Given the description of an element on the screen output the (x, y) to click on. 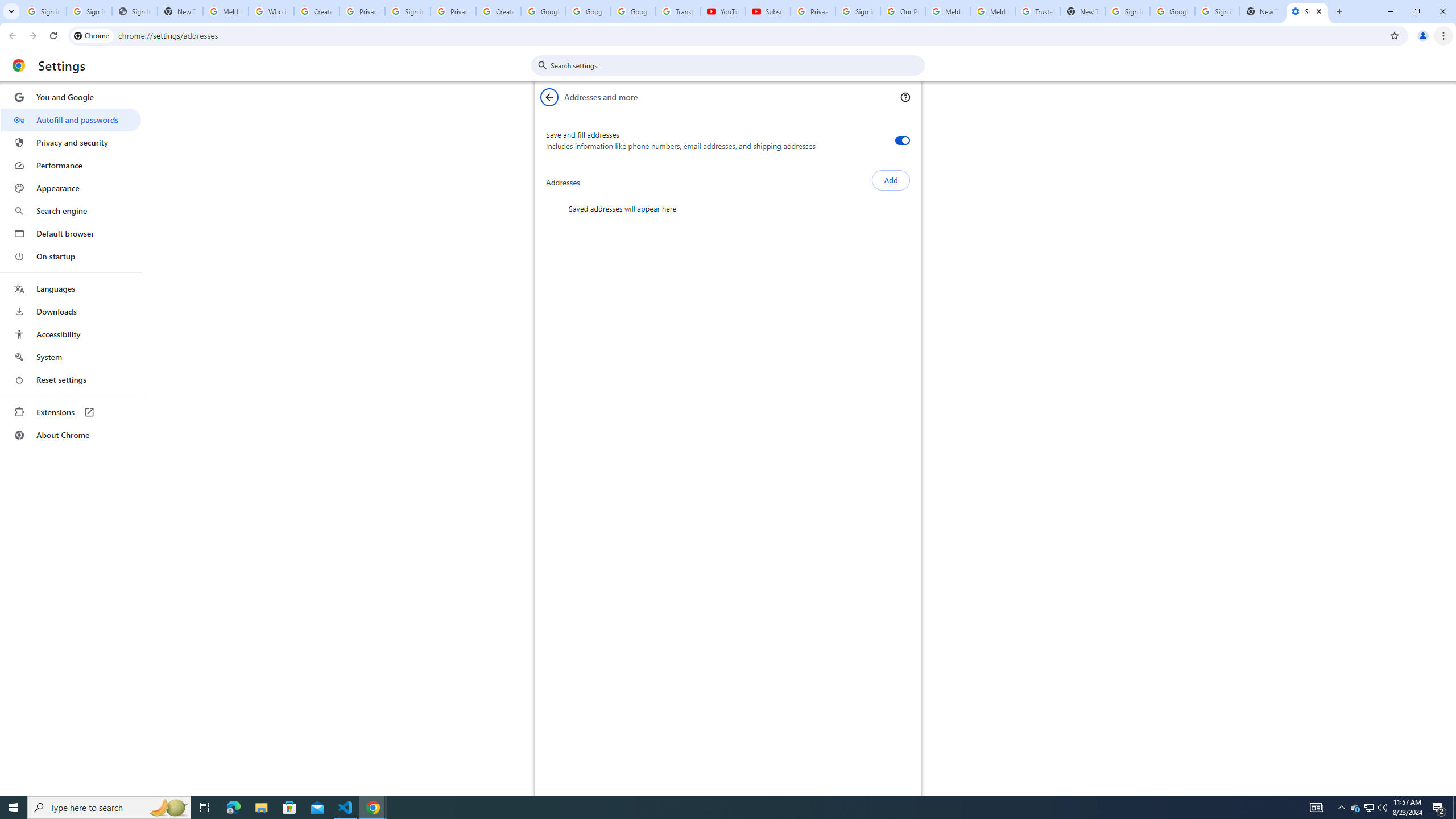
Trusted Information and Content - Google Safety Center (1037, 11)
Sign In - USA TODAY (134, 11)
Accessibility (70, 333)
Languages (70, 288)
Create your Google Account (497, 11)
Search settings (735, 65)
